Given the description of an element on the screen output the (x, y) to click on. 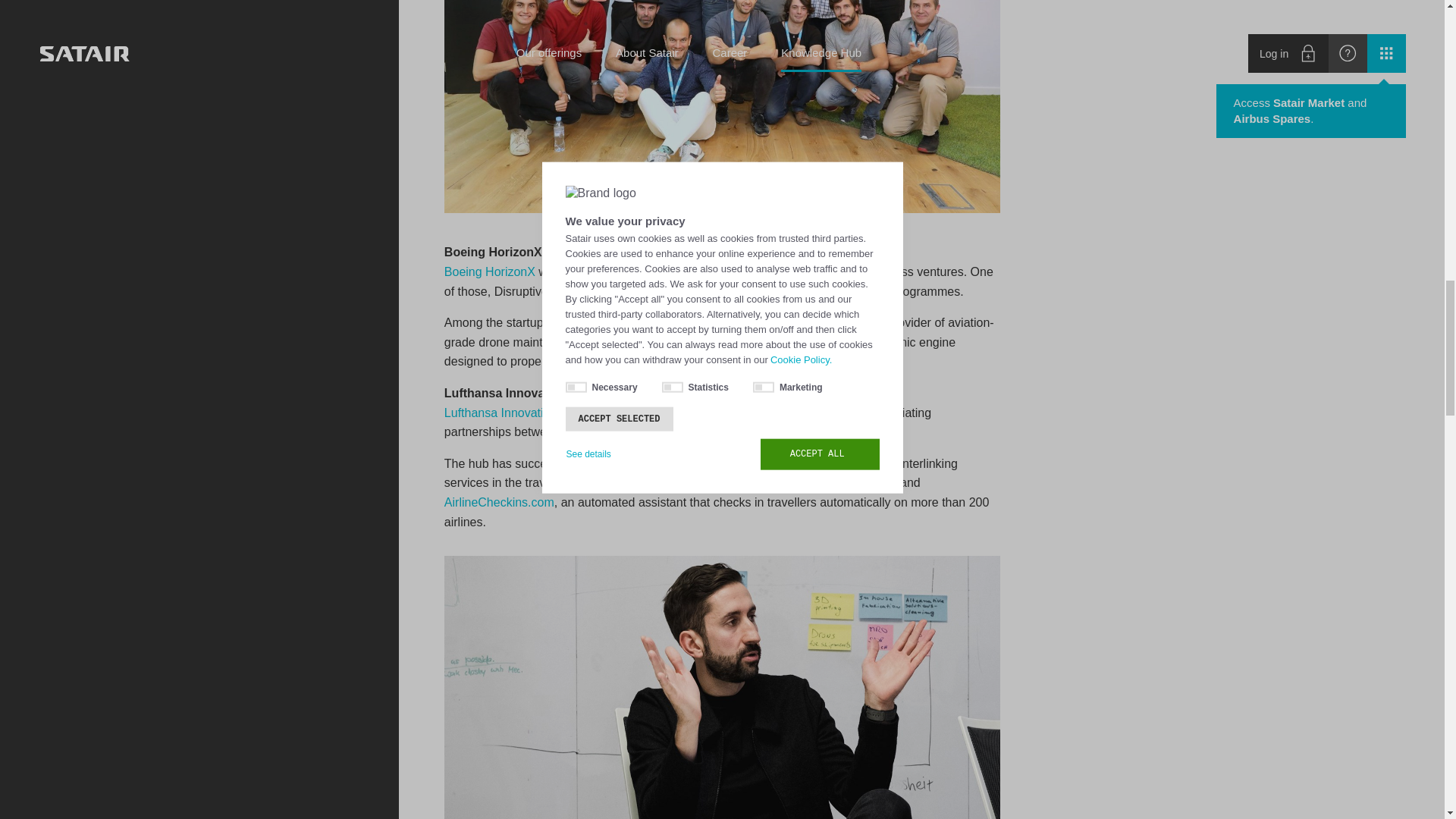
Yilu (825, 463)
Robotic Skies (785, 322)
AirlineCheckins.com (499, 502)
Boeing HorizonX (489, 271)
Reaction Engines (659, 341)
Lufthansa Innovation Hub (513, 412)
